Given the description of an element on the screen output the (x, y) to click on. 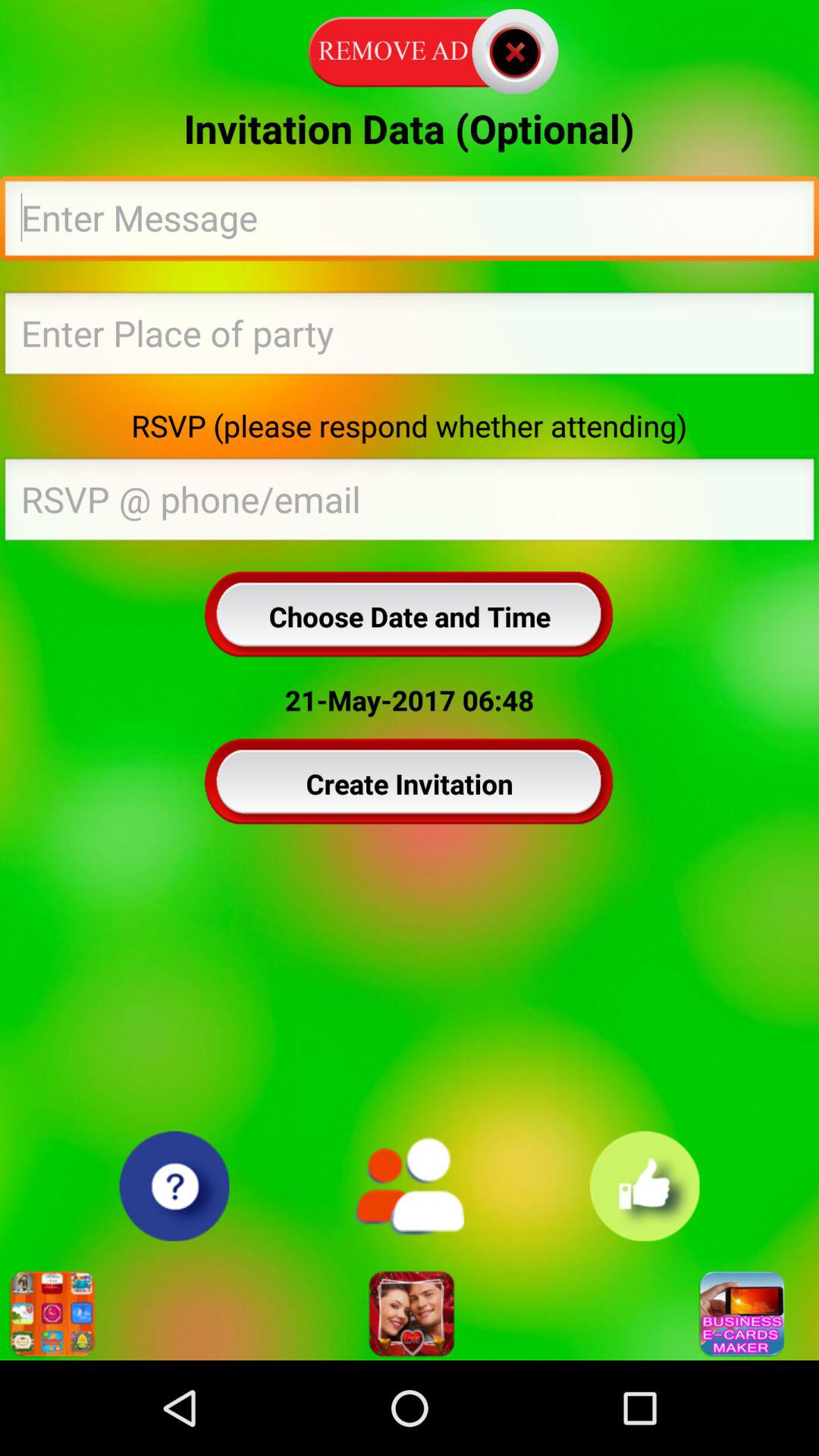
tap app below the 21 may 2017 item (409, 783)
